Given the description of an element on the screen output the (x, y) to click on. 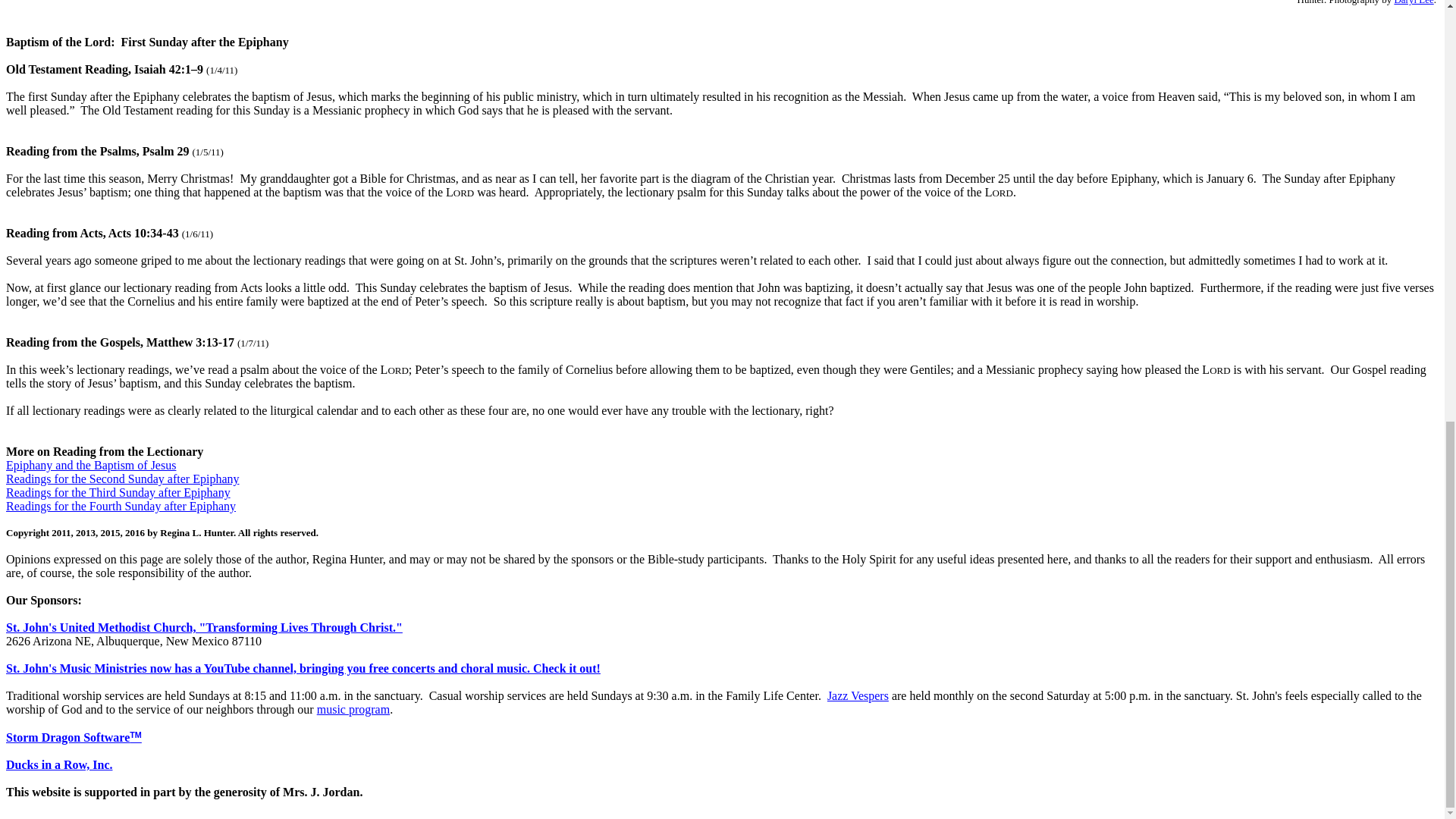
More on Reading from the Lectionary (104, 451)
Readings for the Second Sunday after Epiphany (121, 478)
Jazz Vespers (857, 695)
Daryl Lee (1412, 2)
Readings for the Fourth Sunday after Epiphany (120, 505)
Epiphany and the Baptism of Jesus (90, 464)
music program (353, 708)
Ducks in a Row, Inc. (58, 764)
